Given the description of an element on the screen output the (x, y) to click on. 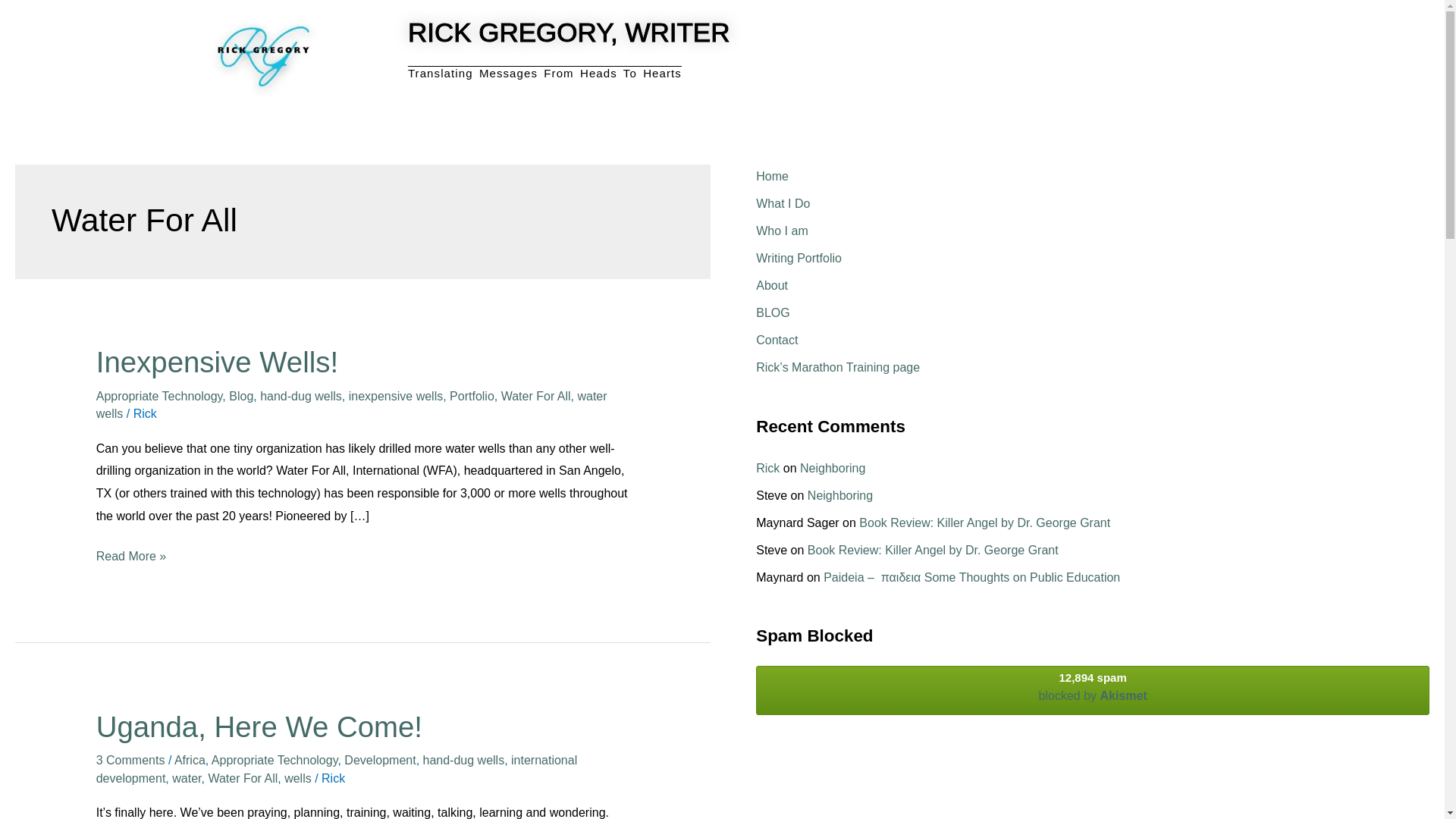
international development (336, 768)
water wells (351, 404)
Rick (145, 413)
Inexpensive Wells! (216, 361)
Blog (240, 395)
Water For All (243, 778)
water (185, 778)
hand-dug wells (301, 395)
inexpensive wells (396, 395)
3 Comments (130, 759)
